Given the description of an element on the screen output the (x, y) to click on. 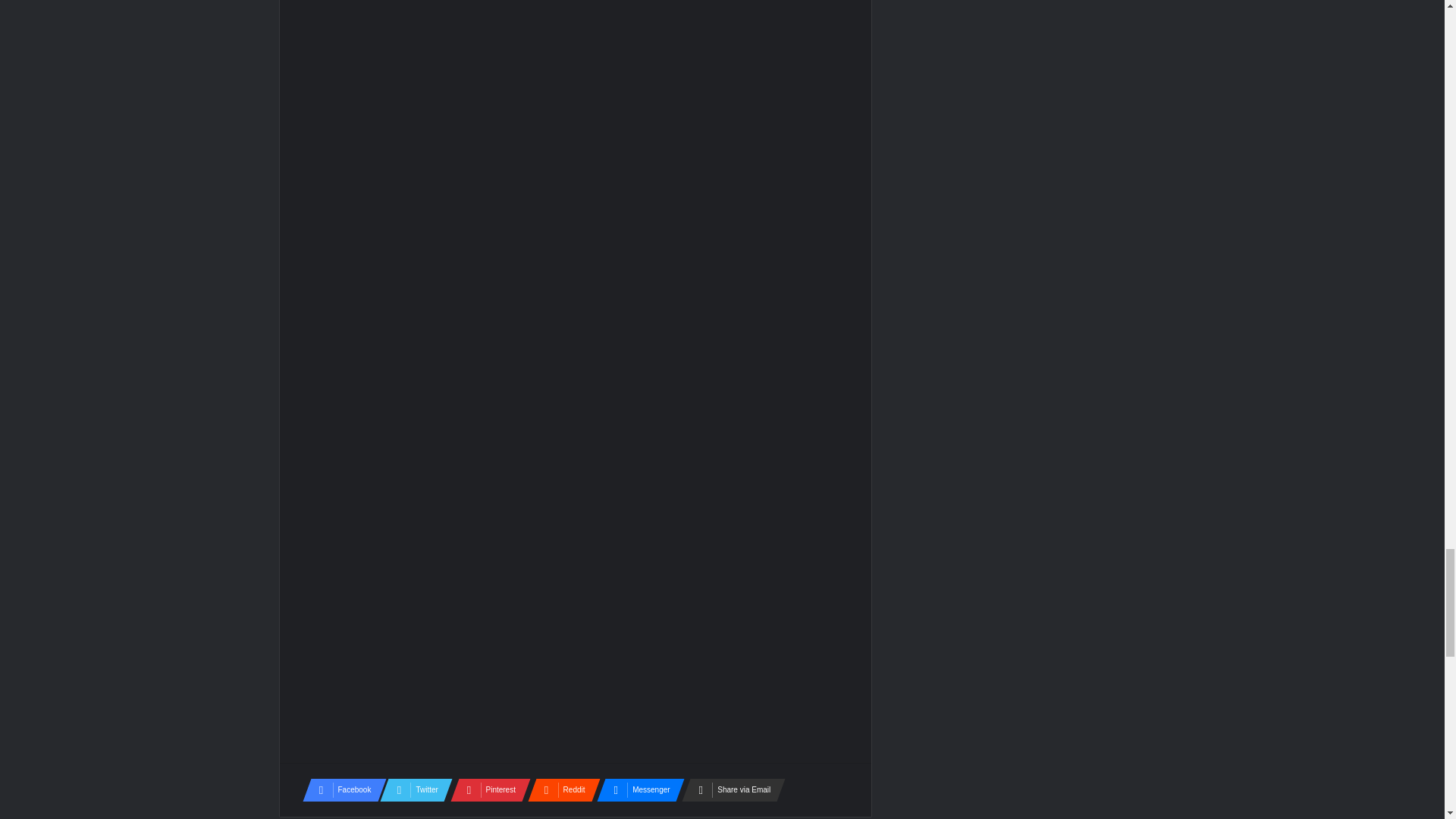
Share via Email (728, 789)
Twitter (412, 789)
Pinterest (485, 789)
Messenger (635, 789)
Reddit (559, 789)
Facebook (339, 789)
Twitter (412, 789)
Facebook (339, 789)
Messenger (635, 789)
Reddit (559, 789)
